Given the description of an element on the screen output the (x, y) to click on. 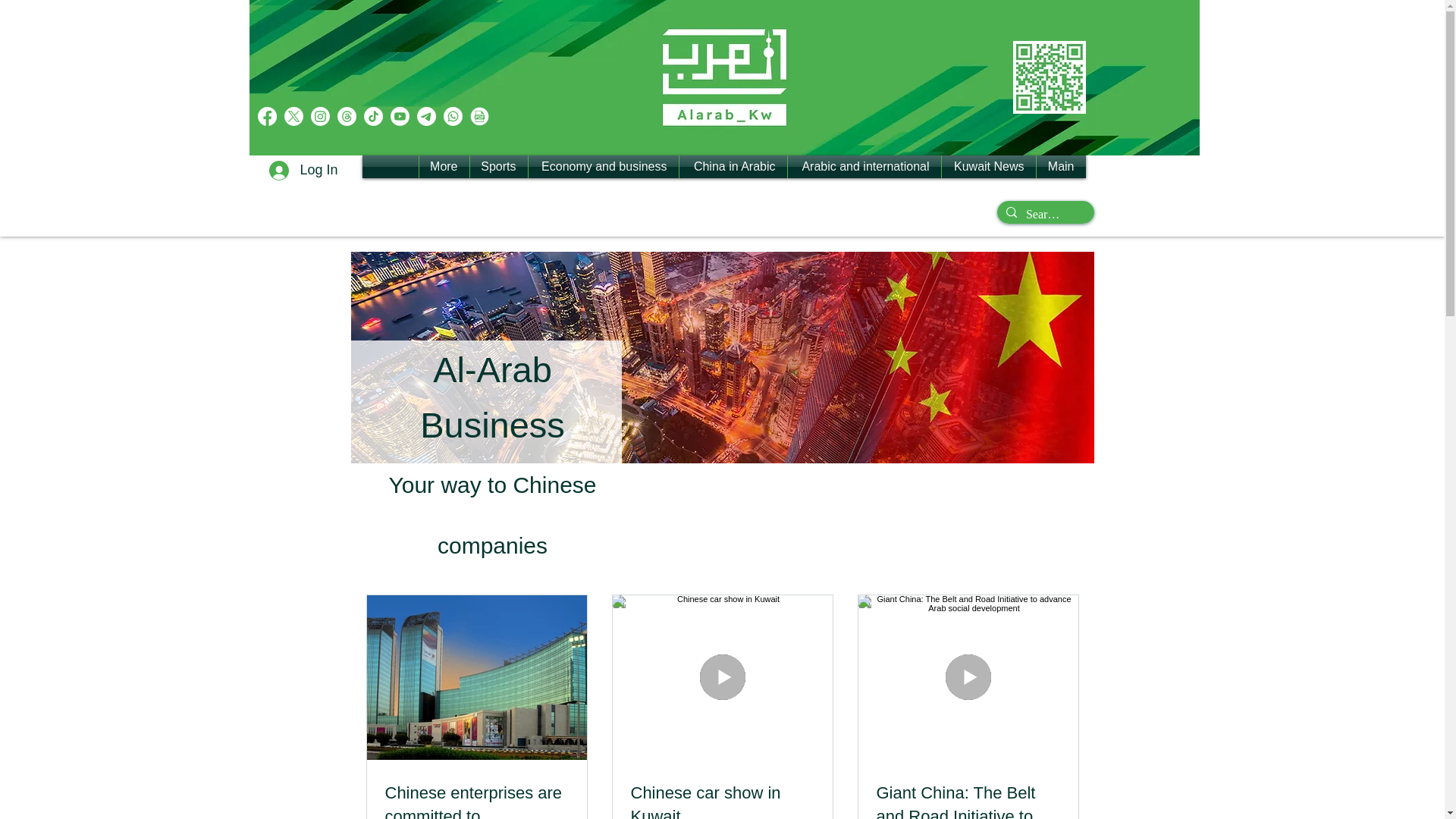
Log In (303, 170)
Arabic and international (863, 166)
Main (1059, 166)
Chinese car show in Kuwait (721, 800)
Economy and business (602, 166)
Sports (498, 166)
Kuwait News (988, 166)
China in Arabic (733, 166)
